Given the description of an element on the screen output the (x, y) to click on. 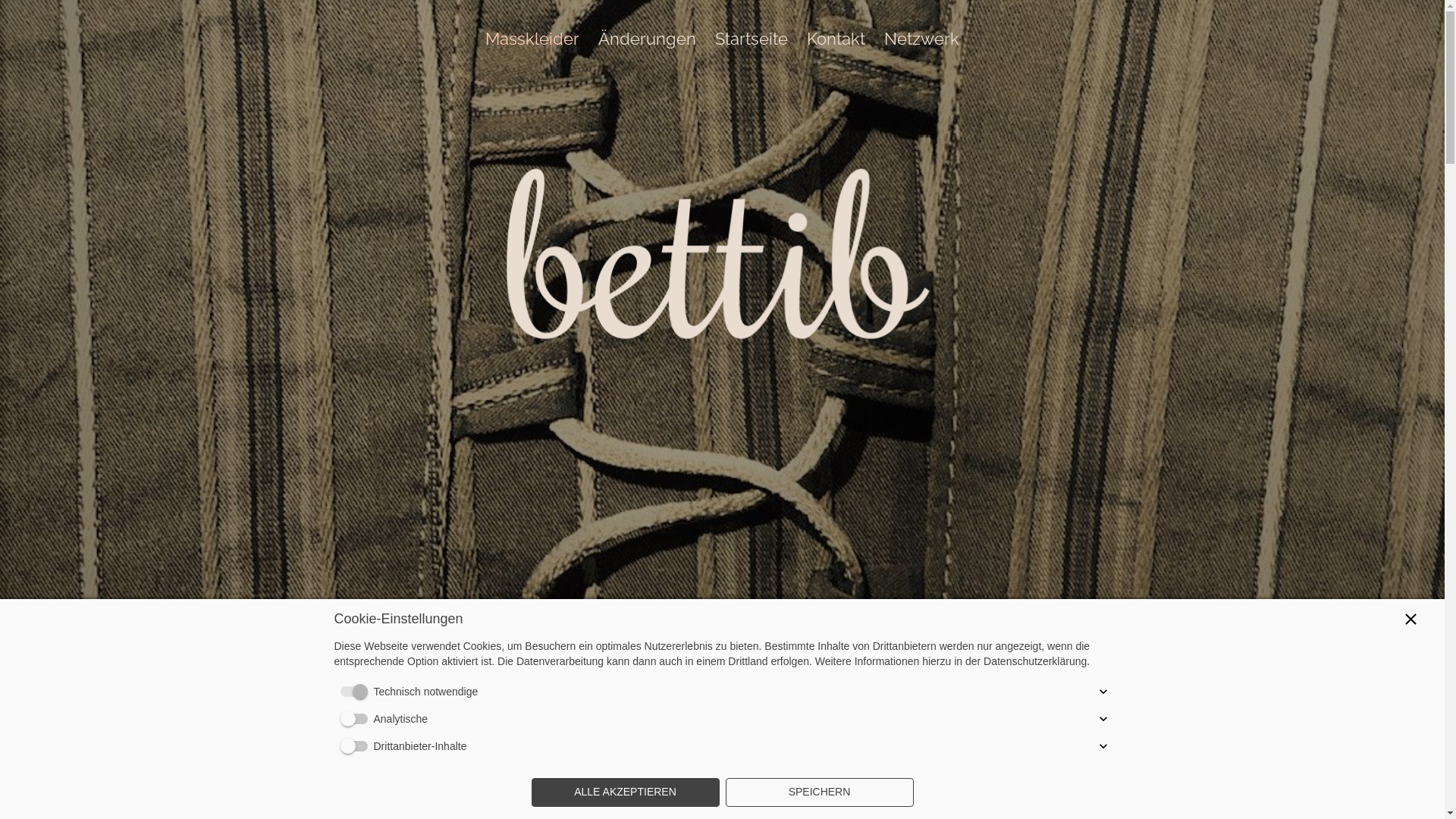
ALLE AKZEPTIEREN Element type: text (624, 792)
Startseite Element type: text (751, 42)
Netzwerk Element type: text (921, 42)
SPEICHERN Element type: text (818, 792)
Kontakt Element type: text (835, 42)
Masskleider Element type: text (532, 42)
